Given the description of an element on the screen output the (x, y) to click on. 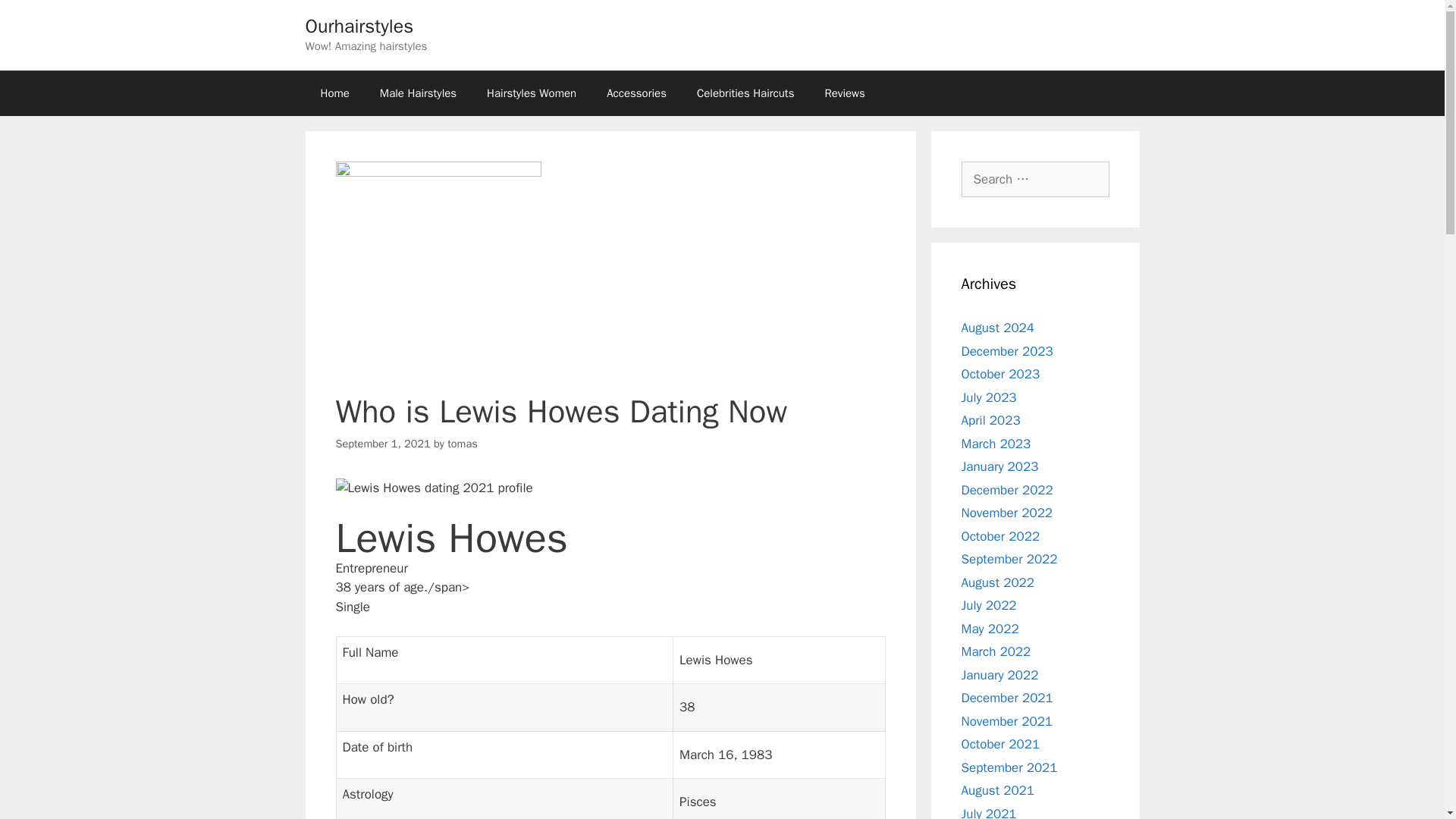
October 2022 (1000, 535)
Accessories (636, 92)
November 2021 (1006, 720)
December 2022 (1006, 489)
tomas (461, 443)
October 2021 (1000, 744)
Search for: (1034, 178)
July 2023 (988, 397)
April 2023 (990, 420)
August 2022 (996, 582)
